Given the description of an element on the screen output the (x, y) to click on. 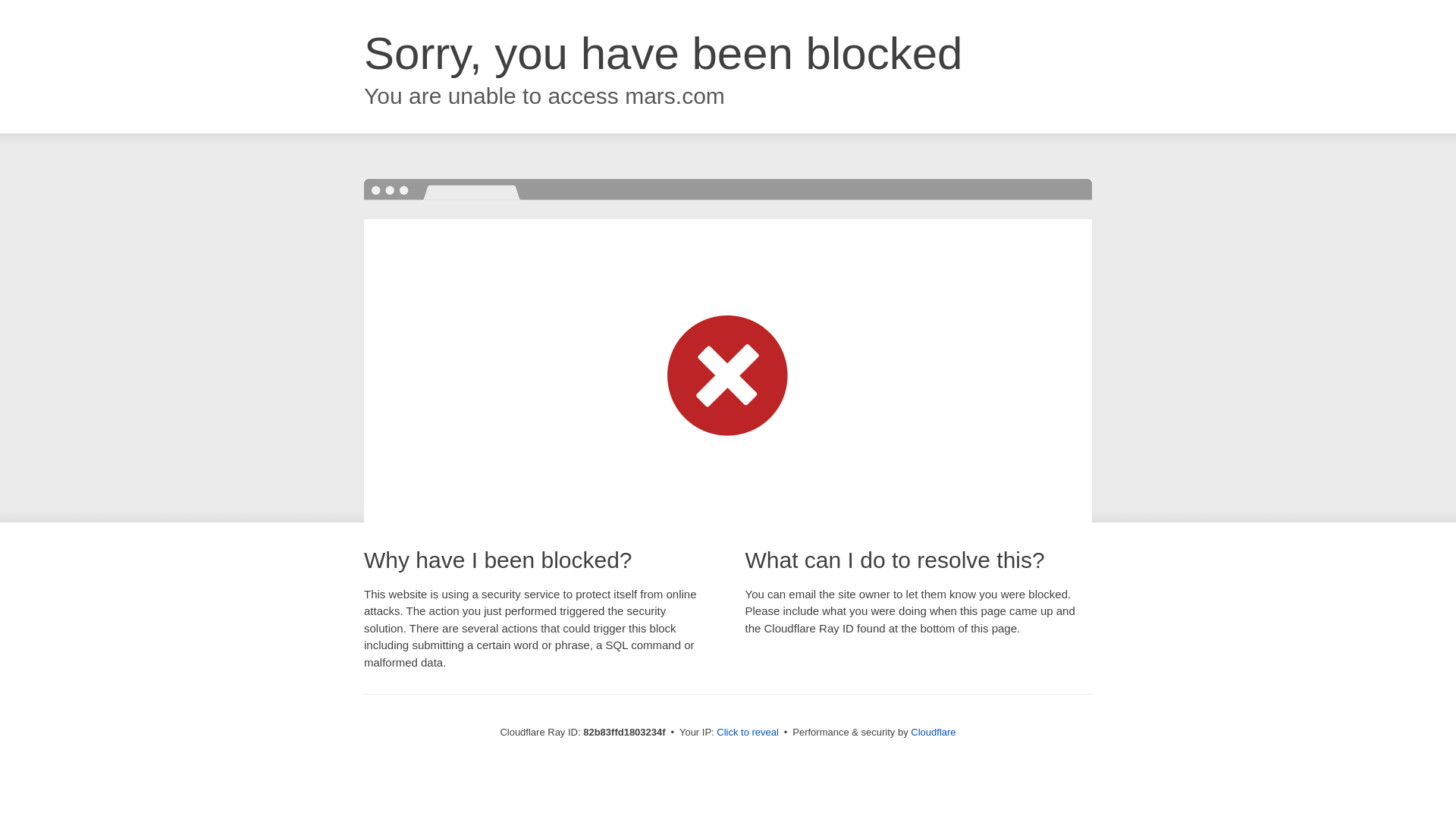
Click to reveal Element type: text (747, 732)
Cloudflare Element type: text (932, 731)
